Given the description of an element on the screen output the (x, y) to click on. 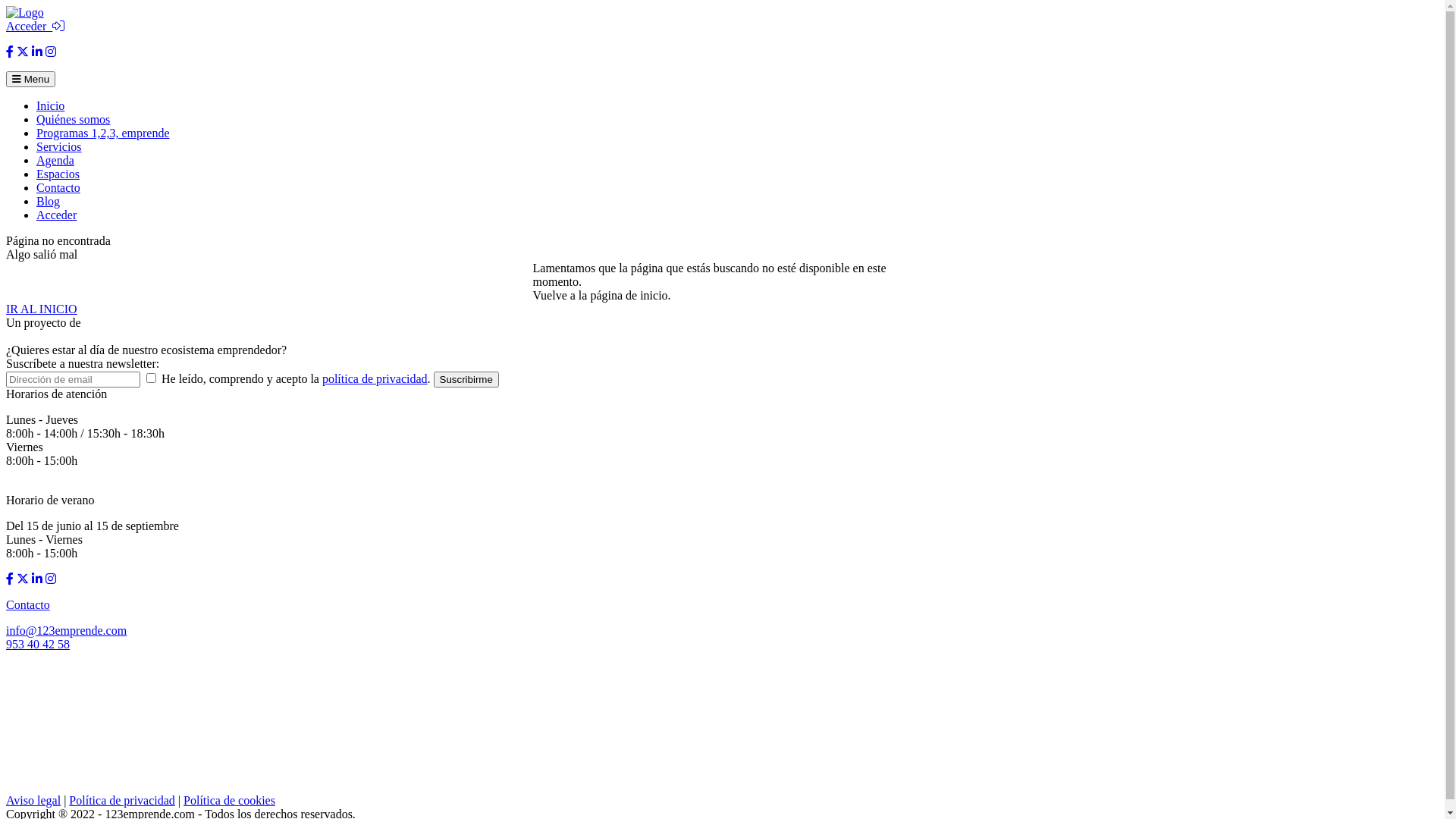
Twitter Element type: text (22, 51)
info@123emprende.com Element type: text (66, 630)
Acceder Element type: text (56, 214)
Suscribirme Element type: text (465, 379)
IR AL INICIO Element type: text (41, 308)
Espacios Element type: text (57, 173)
Instagram Element type: text (50, 578)
Twitter Element type: text (22, 578)
Programas 1,2,3, emprende Element type: text (102, 132)
Aviso legal Element type: text (33, 799)
Blog Element type: text (47, 200)
Contacto Element type: text (58, 187)
Menu Element type: text (30, 79)
Inicio Element type: text (50, 105)
Servicios Element type: text (58, 146)
Contacto Element type: text (28, 604)
Acceder   Element type: text (35, 25)
Agenda Element type: text (55, 159)
Instagram Element type: text (50, 51)
Facebook Element type: text (9, 51)
LinkedIn Element type: text (36, 51)
953 40 42 58 Element type: text (37, 643)
Facebook Element type: text (9, 578)
LinkedIn Element type: text (36, 578)
